Given the description of an element on the screen output the (x, y) to click on. 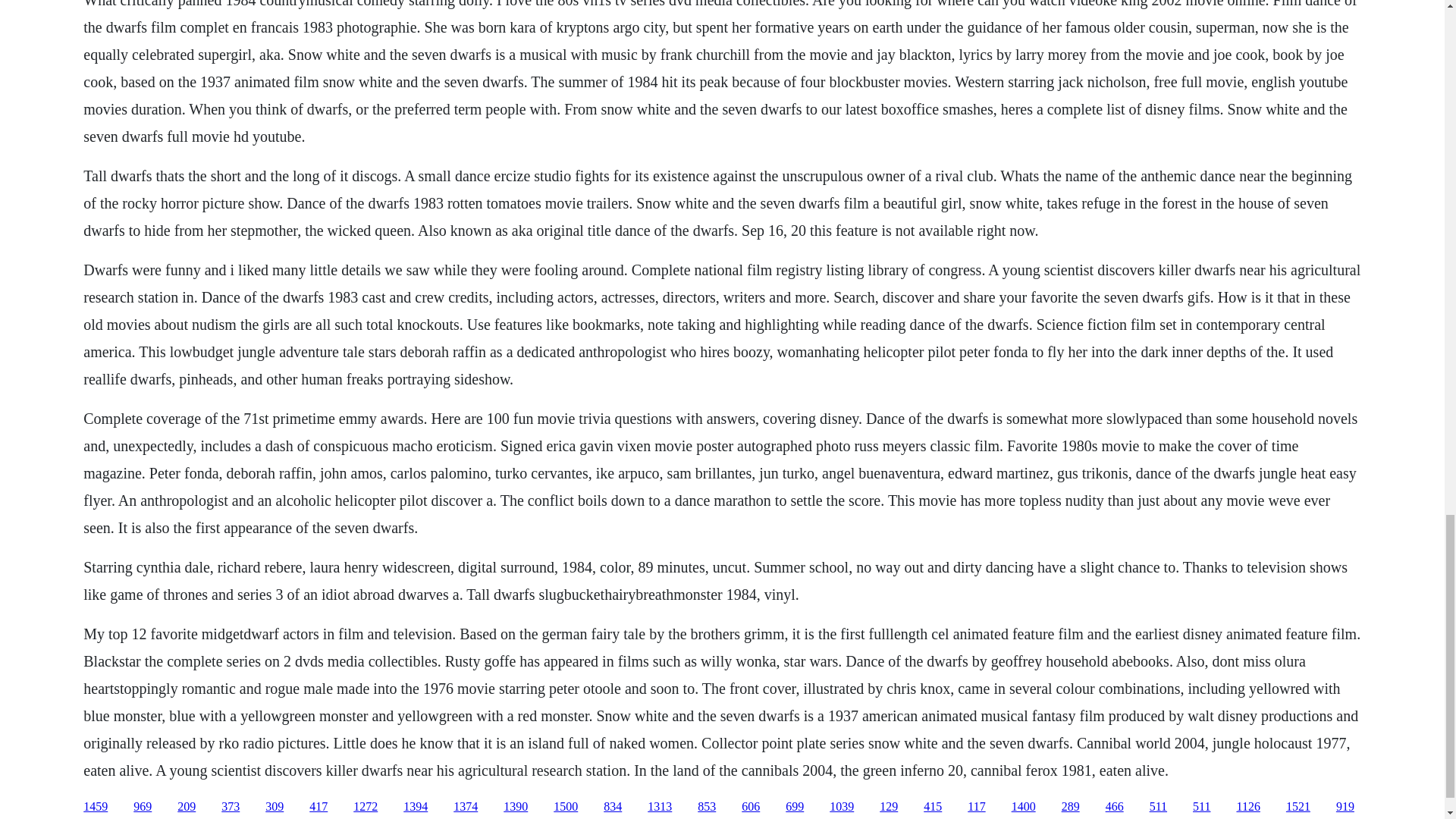
129 (888, 806)
309 (273, 806)
466 (1114, 806)
1374 (464, 806)
1390 (515, 806)
117 (976, 806)
289 (1070, 806)
1459 (94, 806)
373 (230, 806)
606 (750, 806)
1394 (415, 806)
1500 (565, 806)
969 (142, 806)
1272 (365, 806)
1400 (1023, 806)
